Given the description of an element on the screen output the (x, y) to click on. 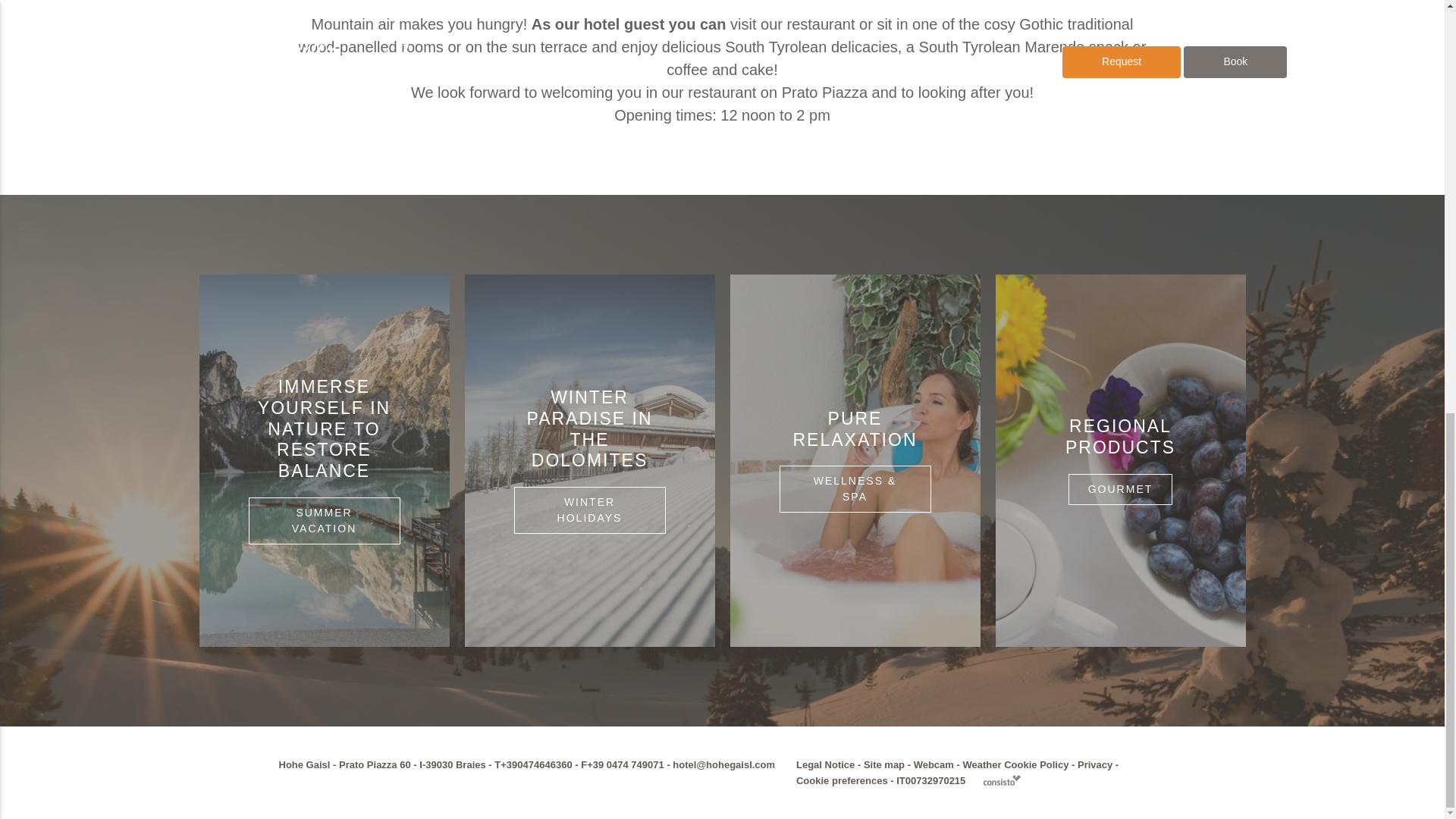
Web agency South Tyrol (1002, 780)
